Given the description of an element on the screen output the (x, y) to click on. 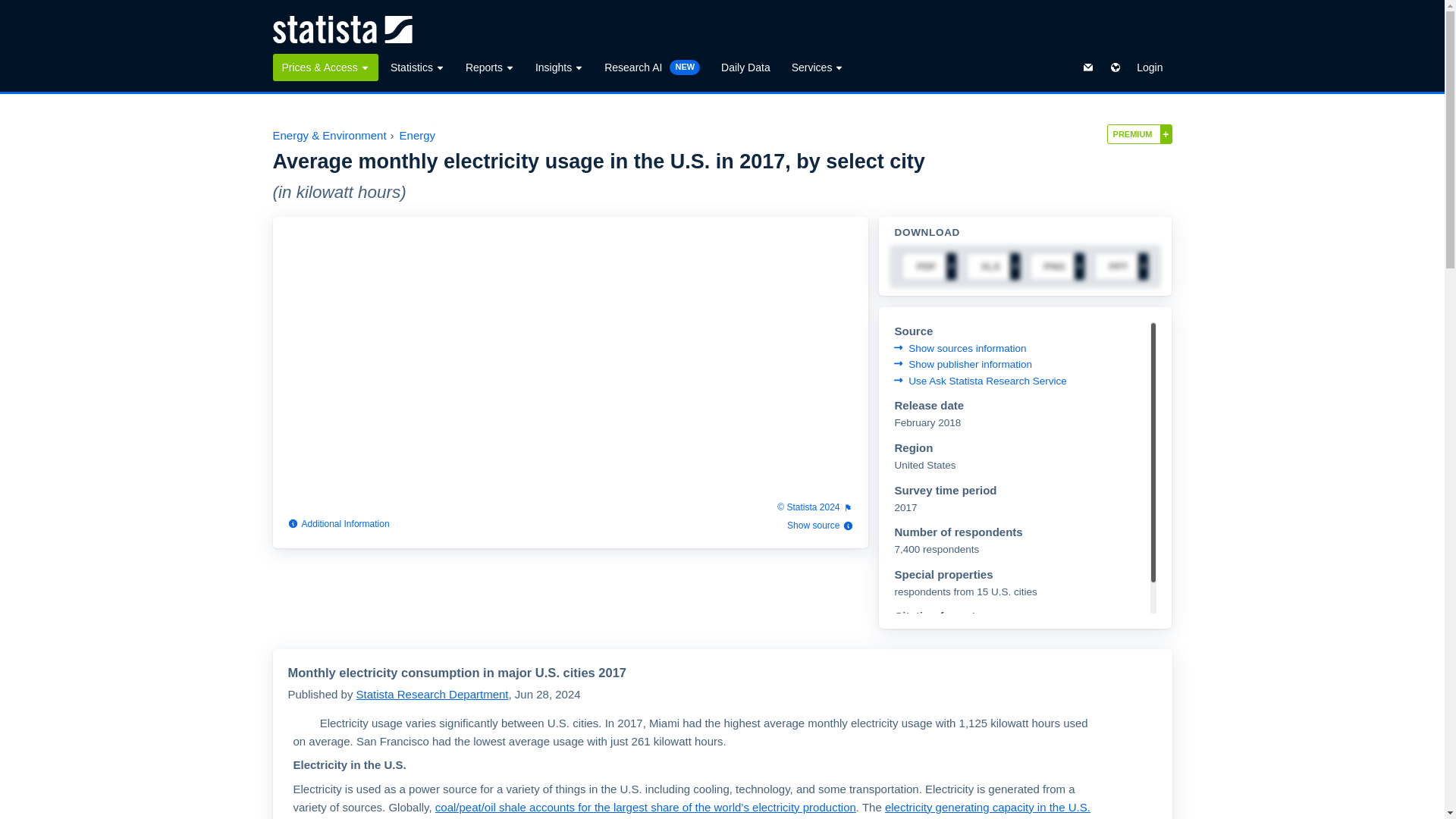
Skip to main content (12, 9)
Statistics (416, 67)
Login (1149, 67)
Login (1149, 67)
Reports (489, 67)
Report (815, 507)
